Given the description of an element on the screen output the (x, y) to click on. 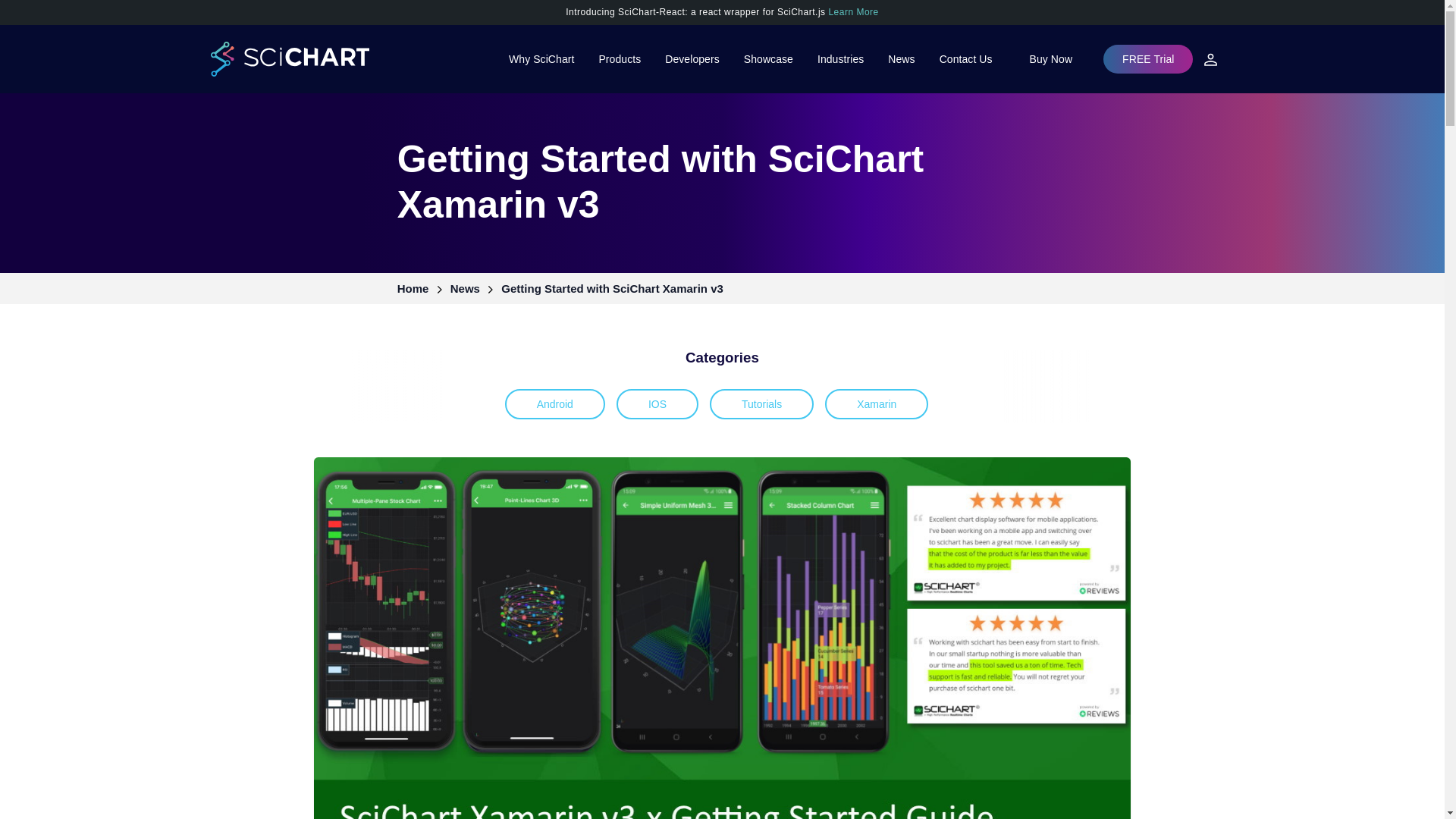
Build React Charts with SciChart.js (722, 11)
Developers (692, 59)
Products (619, 59)
Why SciChart (540, 59)
